Given the description of an element on the screen output the (x, y) to click on. 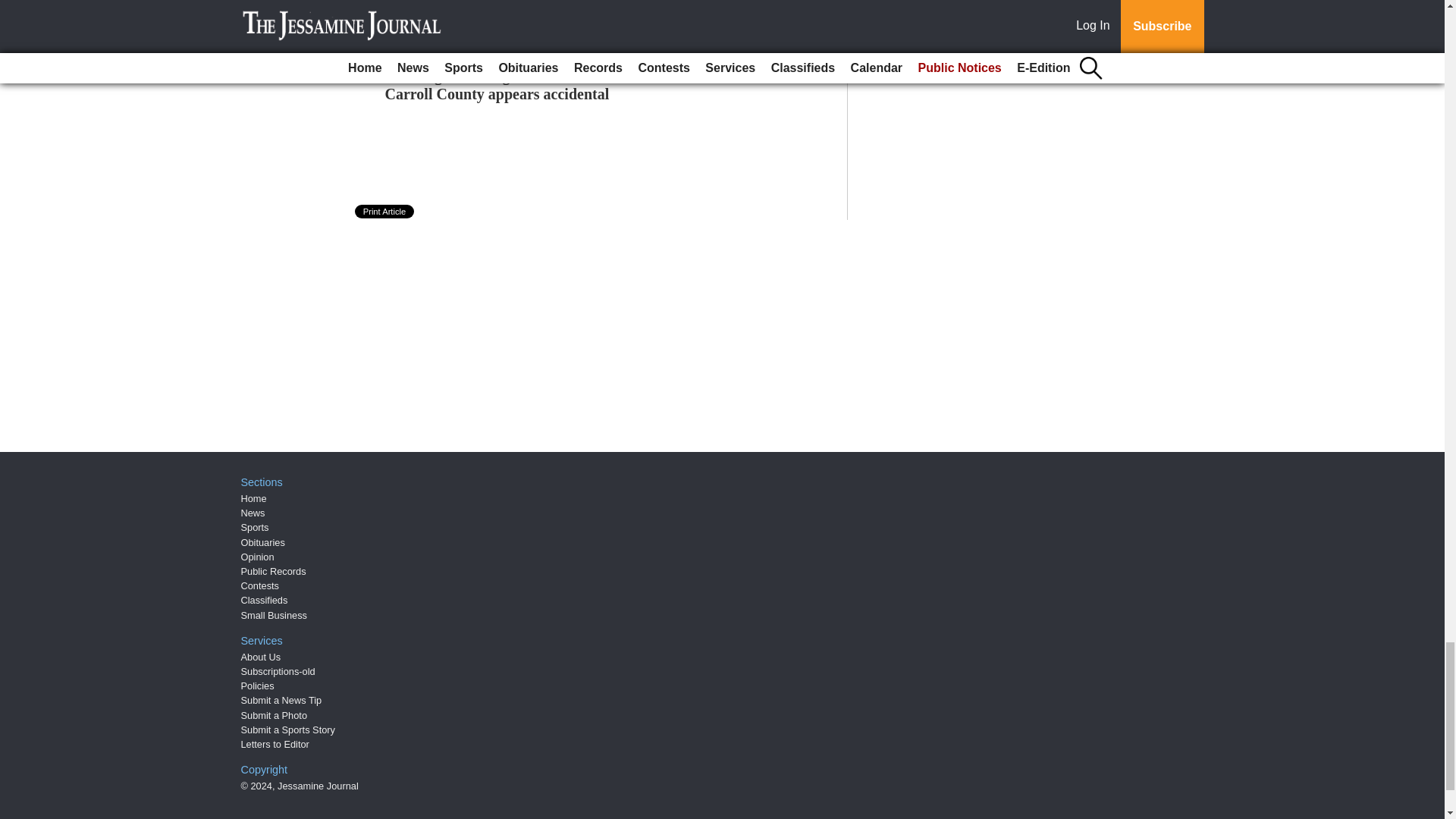
Print Article (384, 211)
News (252, 512)
Home (253, 498)
